Given the description of an element on the screen output the (x, y) to click on. 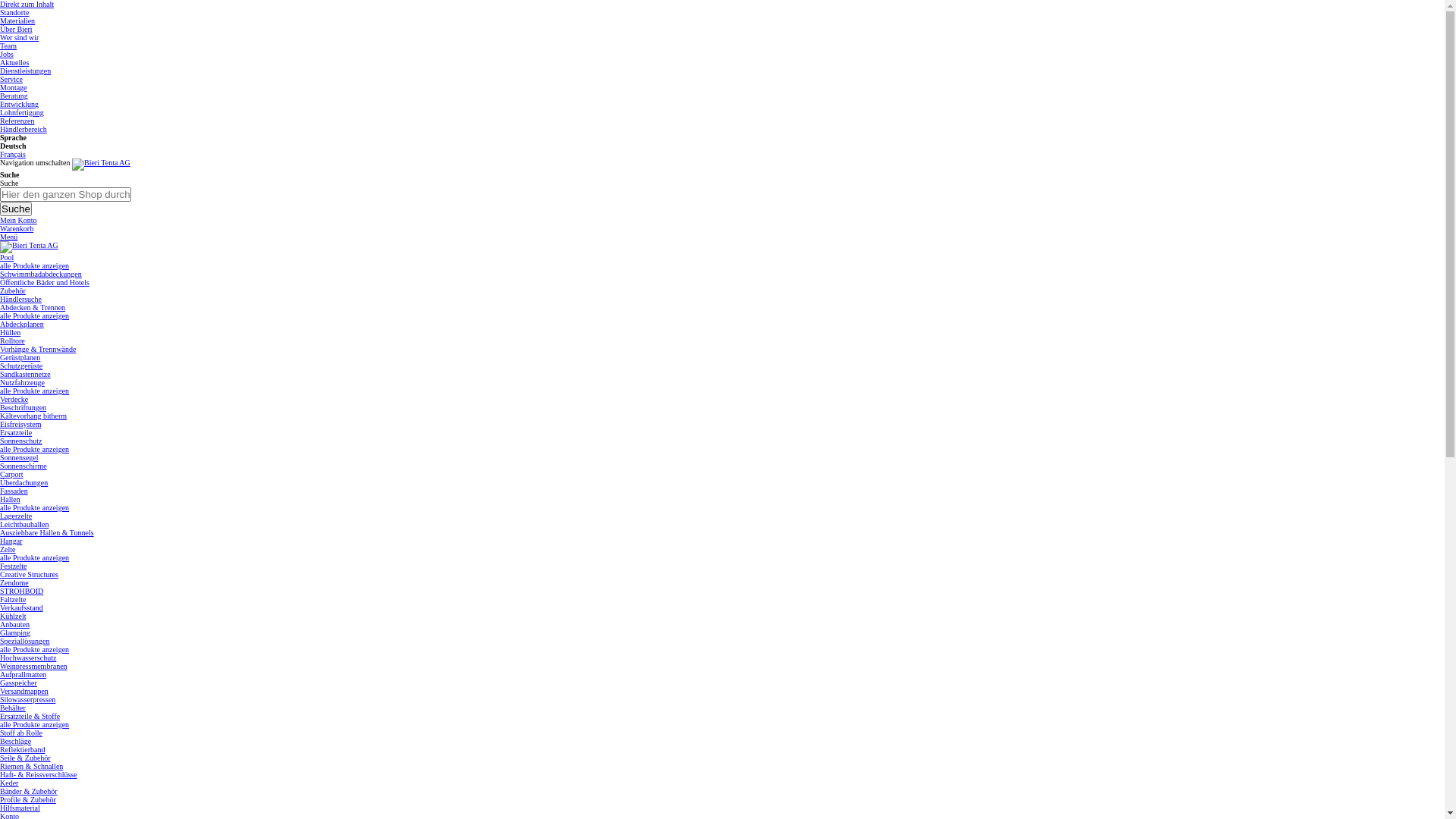
Eisfreisystem Element type: text (20, 424)
Carport Element type: text (11, 474)
Keder Element type: text (9, 782)
Warenkorb Element type: text (16, 228)
Schwimmbadabdeckungen Element type: text (40, 273)
Lagerzelte Element type: text (15, 515)
Stoff ab Rolle Element type: text (21, 732)
alle Produkte anzeigen Element type: text (34, 507)
Direkt zum Inhalt Element type: text (26, 4)
Verdecke Element type: text (14, 399)
Pool Element type: text (6, 257)
Team Element type: text (8, 45)
Referenzen Element type: text (17, 120)
Bieri Tenta AG Element type: hover (29, 247)
Entwicklung Element type: text (19, 104)
Dienstleistungen Element type: text (25, 70)
Zendome Element type: text (14, 582)
Anbauten Element type: text (14, 624)
Abdecken & Trennen Element type: text (32, 307)
Beratung Element type: text (14, 95)
Jobs Element type: text (6, 54)
Hilfsmaterial Element type: text (20, 807)
alle Produkte anzeigen Element type: text (34, 315)
alle Produkte anzeigen Element type: text (34, 390)
Glamping Element type: text (15, 632)
Hangar Element type: text (10, 540)
Sandkastennetze Element type: text (25, 374)
Silowasserpressen Element type: text (27, 699)
Sonnensegel Element type: text (19, 457)
Montage Element type: text (13, 87)
Beschriftungen Element type: text (23, 407)
Gasspeicher Element type: text (18, 682)
Suche Element type: text (15, 208)
Bieri Tenta AG Element type: hover (101, 164)
Faltzelte Element type: text (12, 599)
Zelte Element type: text (7, 549)
alle Produkte anzeigen Element type: text (34, 649)
Nutzfahrzeuge Element type: text (22, 382)
Materialien Element type: text (17, 20)
Standorte Element type: text (14, 12)
Lohnfertigung Element type: text (21, 112)
Leichtbauhallen Element type: text (24, 524)
Wer sind wir Element type: text (19, 37)
Hochwasserschutz Element type: text (28, 657)
Hallen Element type: text (10, 499)
alle Produkte anzeigen Element type: text (34, 265)
Ausziehbare Hallen & Tunnels Element type: text (47, 532)
Riemen & Schnallen Element type: text (31, 766)
Weinpressmembranen Element type: text (33, 666)
Abdeckplanen Element type: text (21, 324)
Mein Konto Element type: text (18, 220)
Festzelte Element type: text (13, 565)
Aktuelles Element type: text (14, 62)
Sonnenschirme Element type: text (23, 465)
Verkaufsstand Element type: text (21, 607)
alle Produkte anzeigen Element type: text (34, 557)
Creative Structures Element type: text (29, 574)
alle Produkte anzeigen Element type: text (34, 724)
Service Element type: text (11, 79)
Reflektierband Element type: text (22, 749)
STROHBOID Element type: text (21, 590)
Aufprallmatten Element type: text (23, 674)
Versandmappen Element type: text (24, 691)
alle Produkte anzeigen Element type: text (34, 449)
Fassaden Element type: text (14, 490)
Ersatzteile Element type: text (15, 432)
Ersatzteile & Stoffe Element type: text (29, 716)
Sonnenschutz Element type: text (21, 440)
Rolltore Element type: text (12, 340)
